Given the description of an element on the screen output the (x, y) to click on. 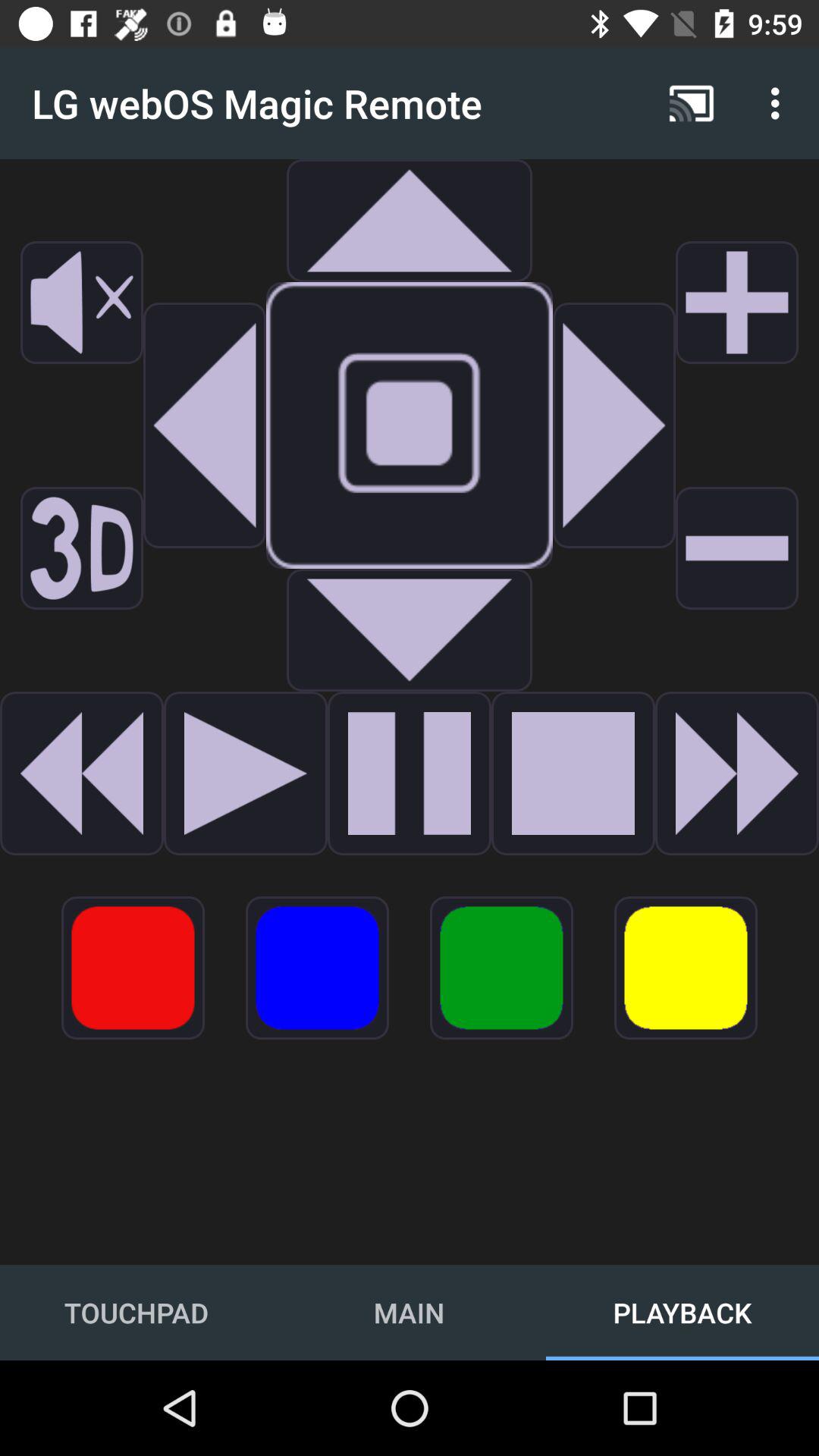
go to audo (409, 629)
